Given the description of an element on the screen output the (x, y) to click on. 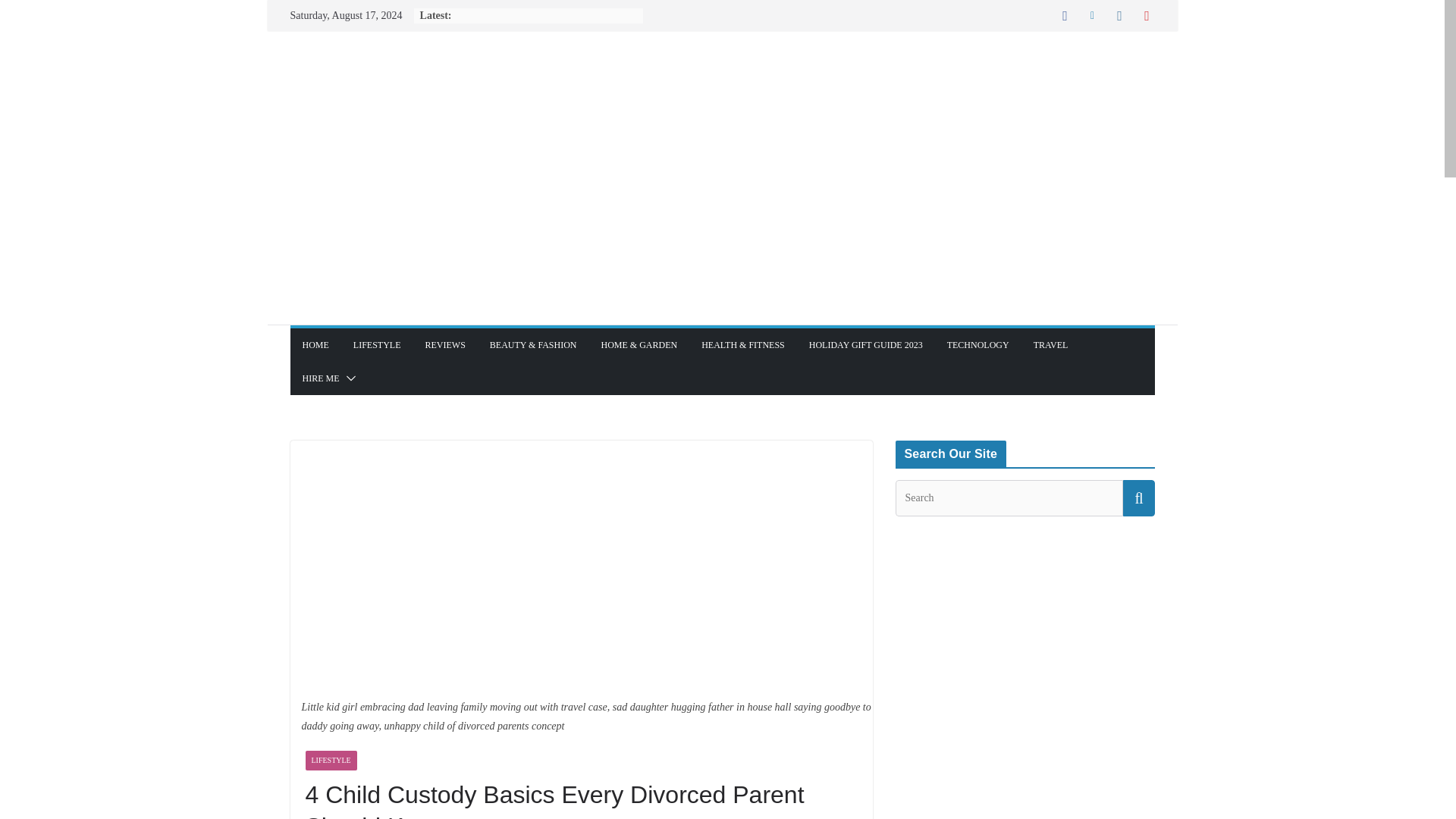
HIRE ME (320, 378)
TRAVEL (1050, 344)
Night Helper (721, 77)
LIFESTYLE (377, 344)
HOME (315, 344)
TECHNOLOGY (978, 344)
LIFESTYLE (330, 760)
REVIEWS (445, 344)
HOLIDAY GIFT GUIDE 2023 (866, 344)
